Given the description of an element on the screen output the (x, y) to click on. 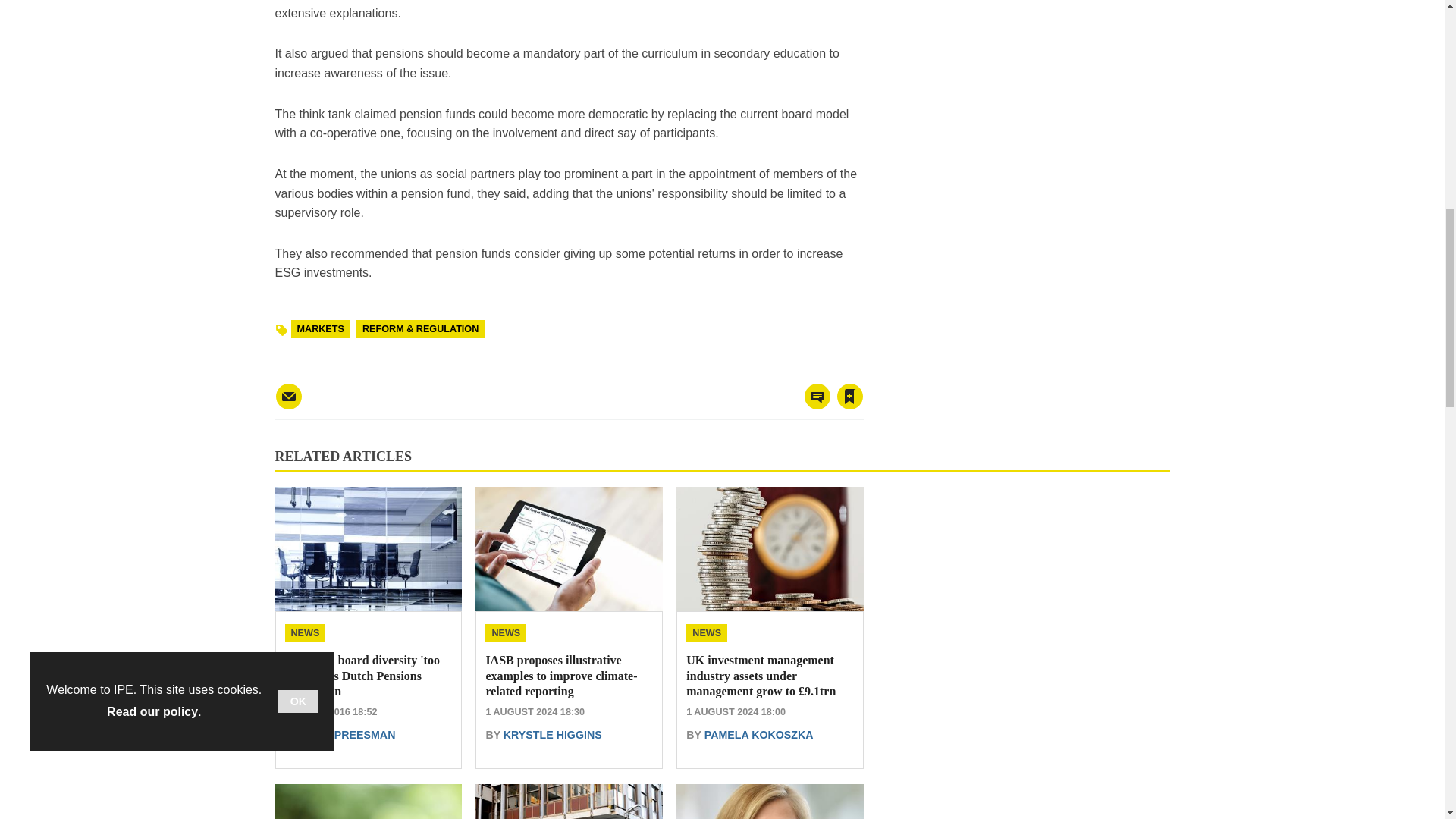
Email this article (288, 396)
